Given the description of an element on the screen output the (x, y) to click on. 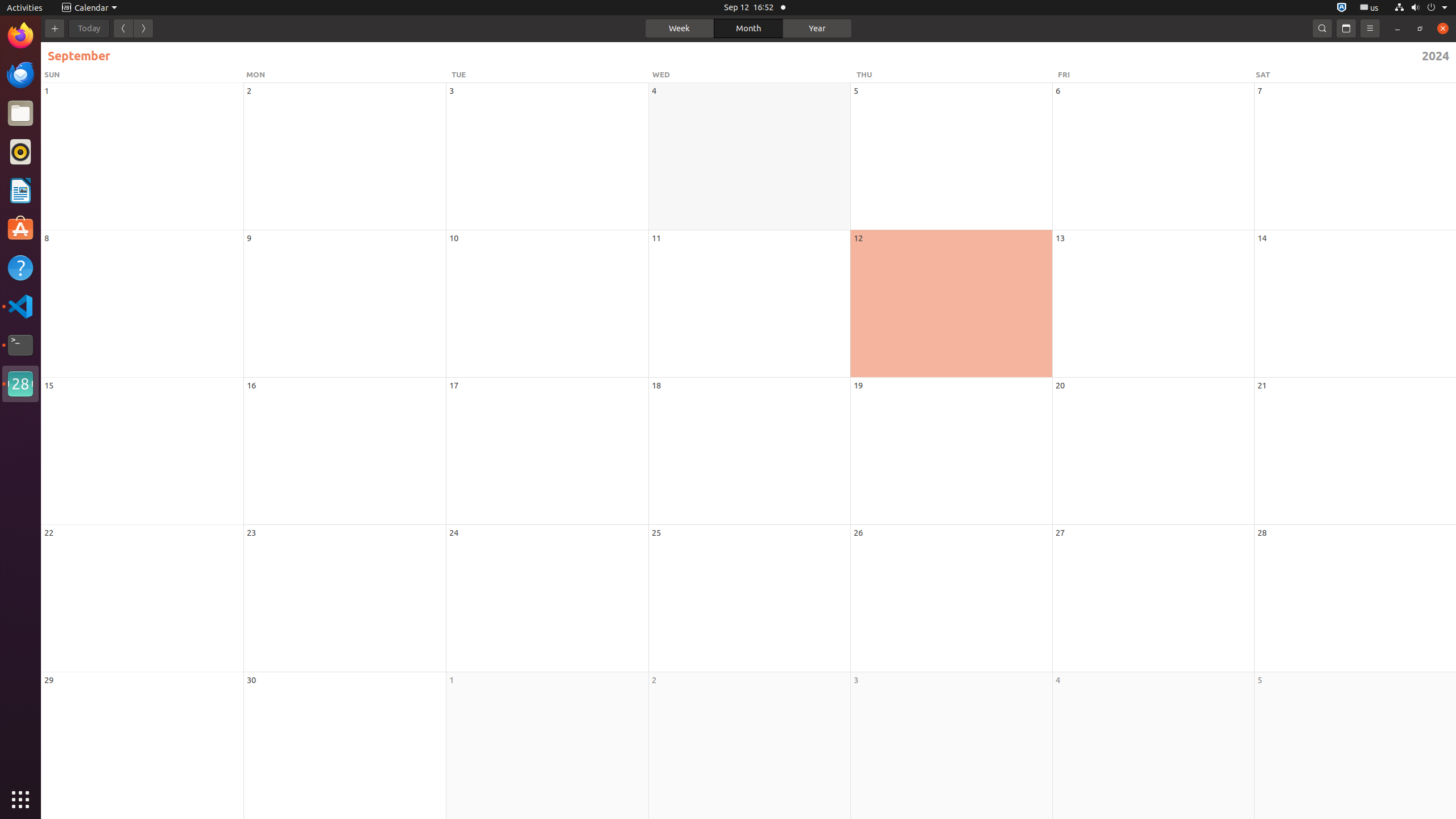
Close Element type: push-button (1442, 27)
Activities Element type: label (24, 7)
2 Element type: label (653, 679)
23 Element type: label (250, 532)
